Given the description of an element on the screen output the (x, y) to click on. 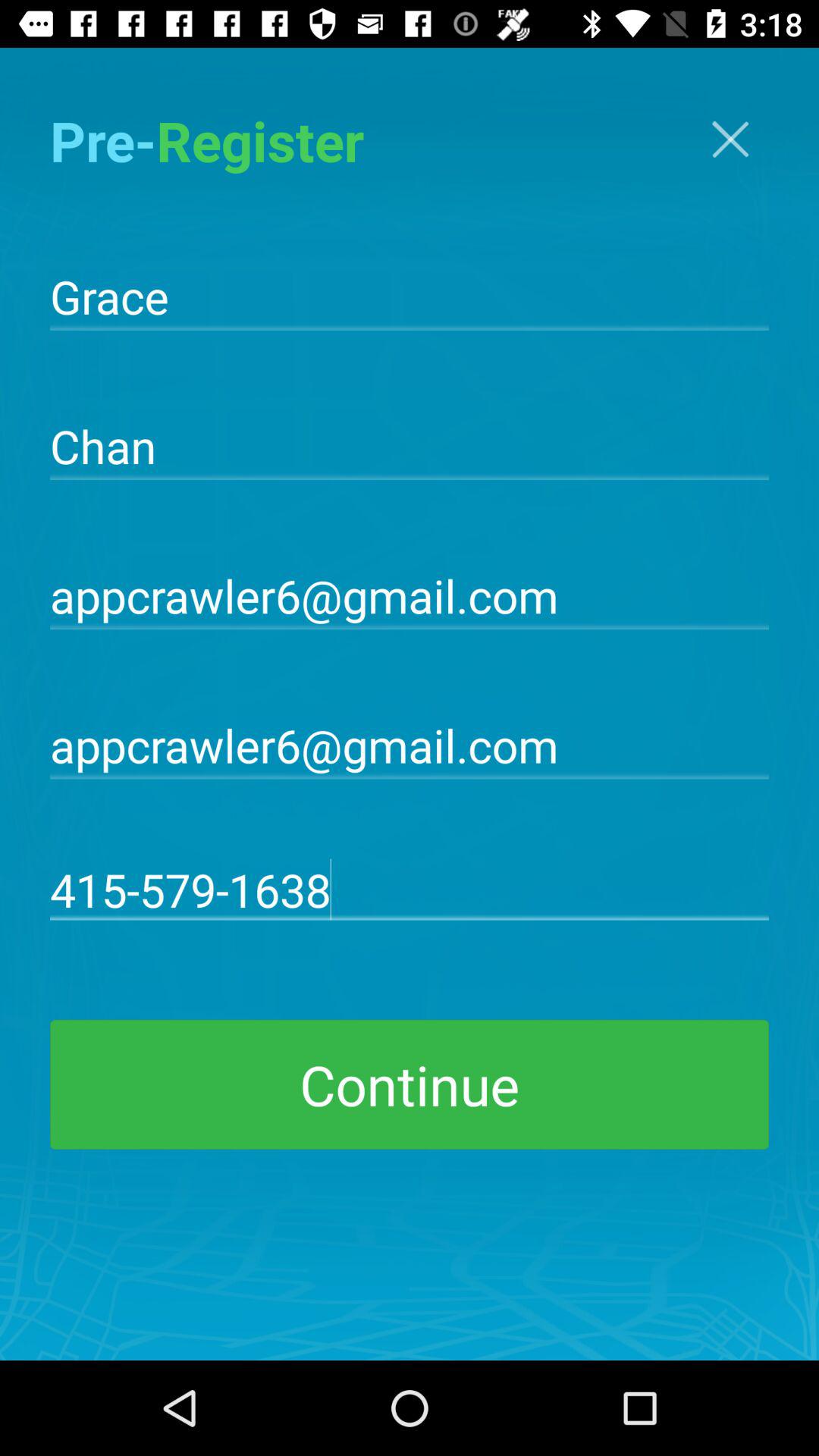
swipe until grace item (409, 295)
